Given the description of an element on the screen output the (x, y) to click on. 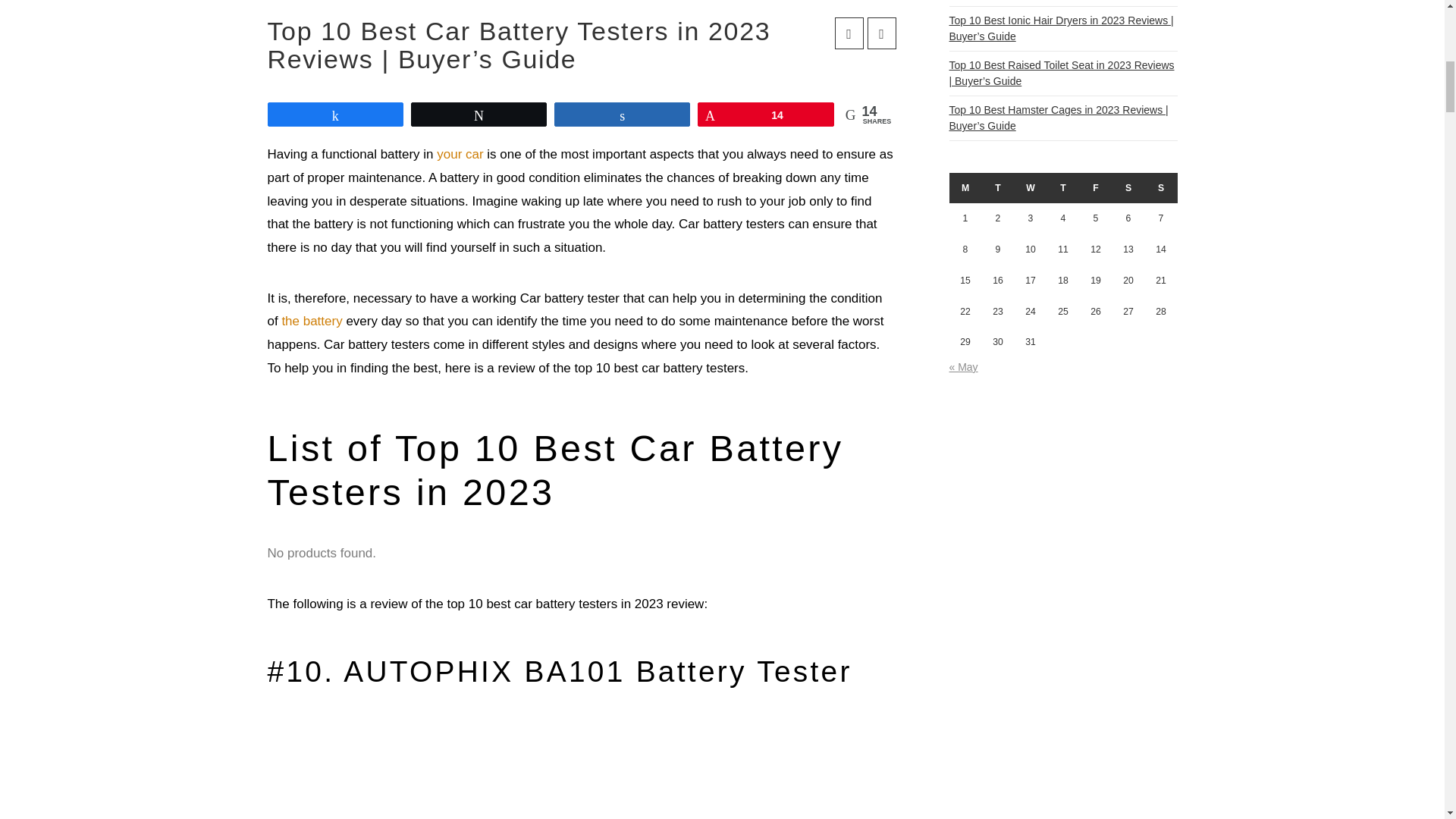
14 (765, 114)
Wednesday (1030, 187)
Saturday (1128, 187)
Friday (1096, 187)
Thursday (1062, 187)
the battery (311, 320)
Monday (965, 187)
your car (459, 154)
Tuesday (997, 187)
Sunday (1160, 187)
